Given the description of an element on the screen output the (x, y) to click on. 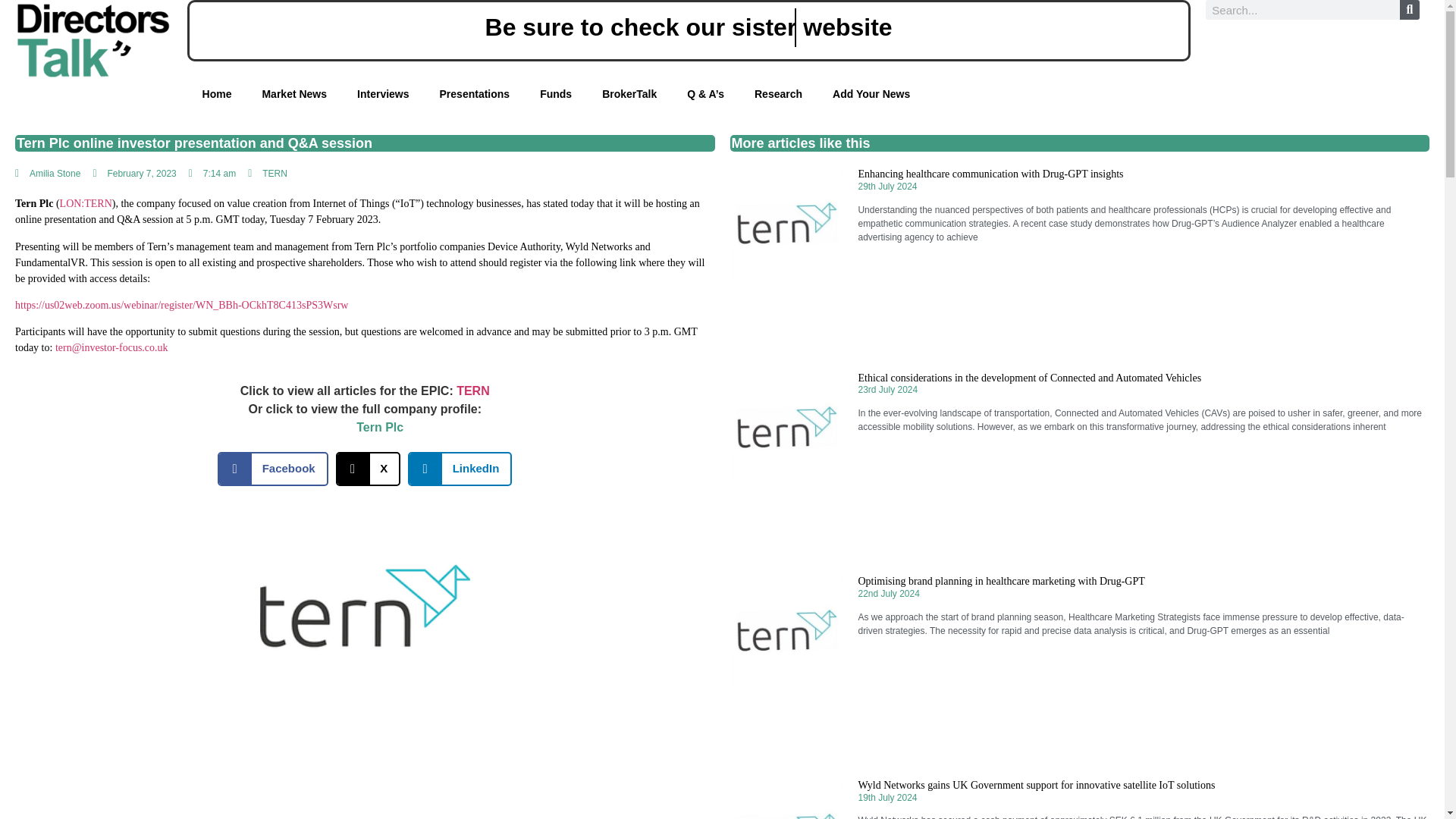
Tern Plc (379, 427)
Funds (456, 93)
Add Your News (845, 93)
Presentations (355, 93)
Interviews (229, 93)
Research (732, 93)
BrokerTalk (555, 93)
